Given the description of an element on the screen output the (x, y) to click on. 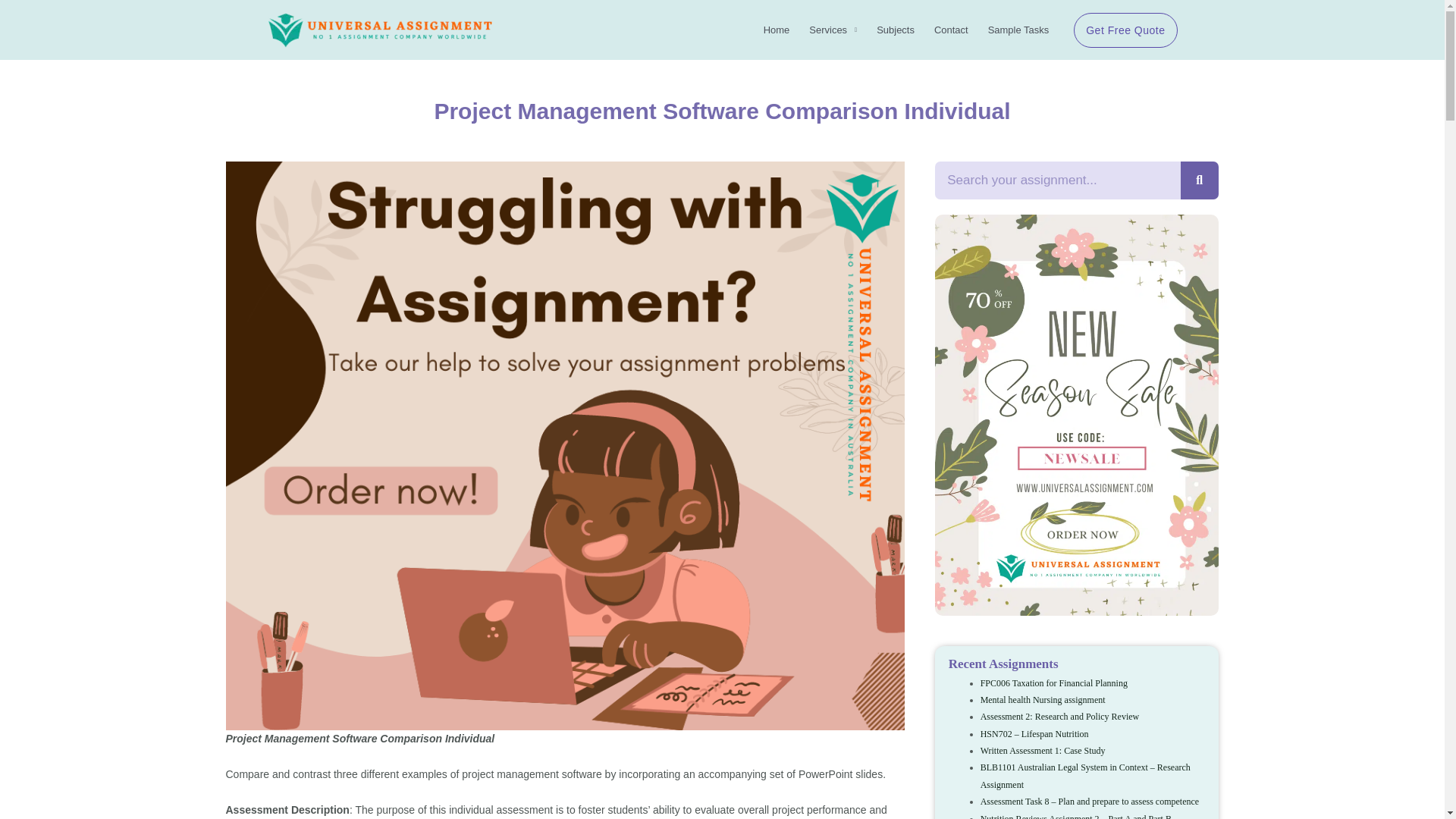
Services (832, 30)
Subjects (895, 30)
Home (776, 30)
Contact (951, 30)
